Given the description of an element on the screen output the (x, y) to click on. 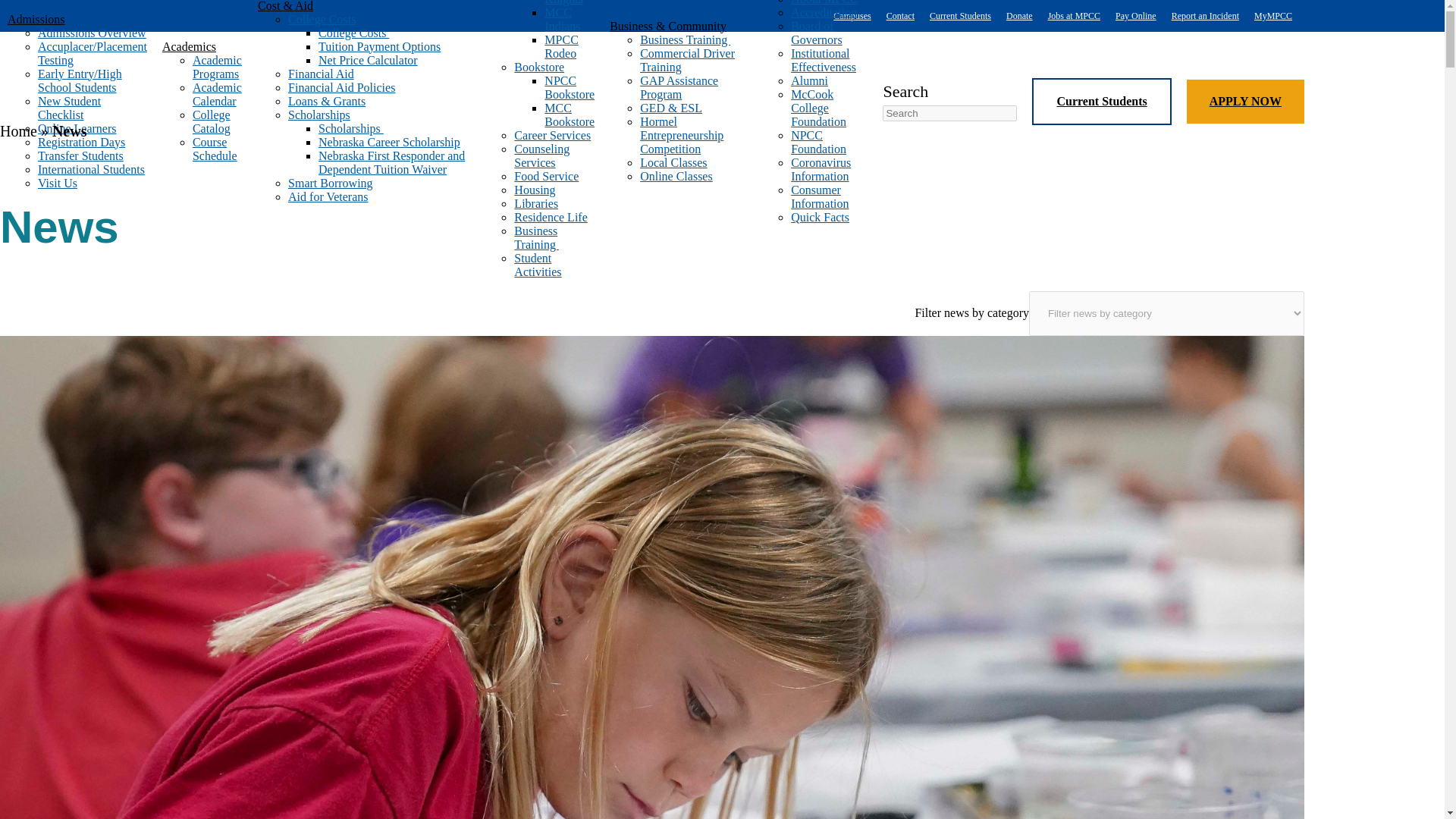
Jobs at MPCC (1074, 15)
Tuition Payment Options (379, 45)
Registration Days (81, 141)
Smart Borrowing (330, 182)
Admissions Overview (92, 31)
Campuses (851, 15)
College Catalog (211, 120)
Transfer Students (80, 154)
Pay Online (1135, 15)
Admissions (77, 18)
Financial Aid Policies (341, 86)
Online Learners (76, 127)
College Costs (321, 18)
Scholarships (319, 113)
Current Students (960, 15)
